Given the description of an element on the screen output the (x, y) to click on. 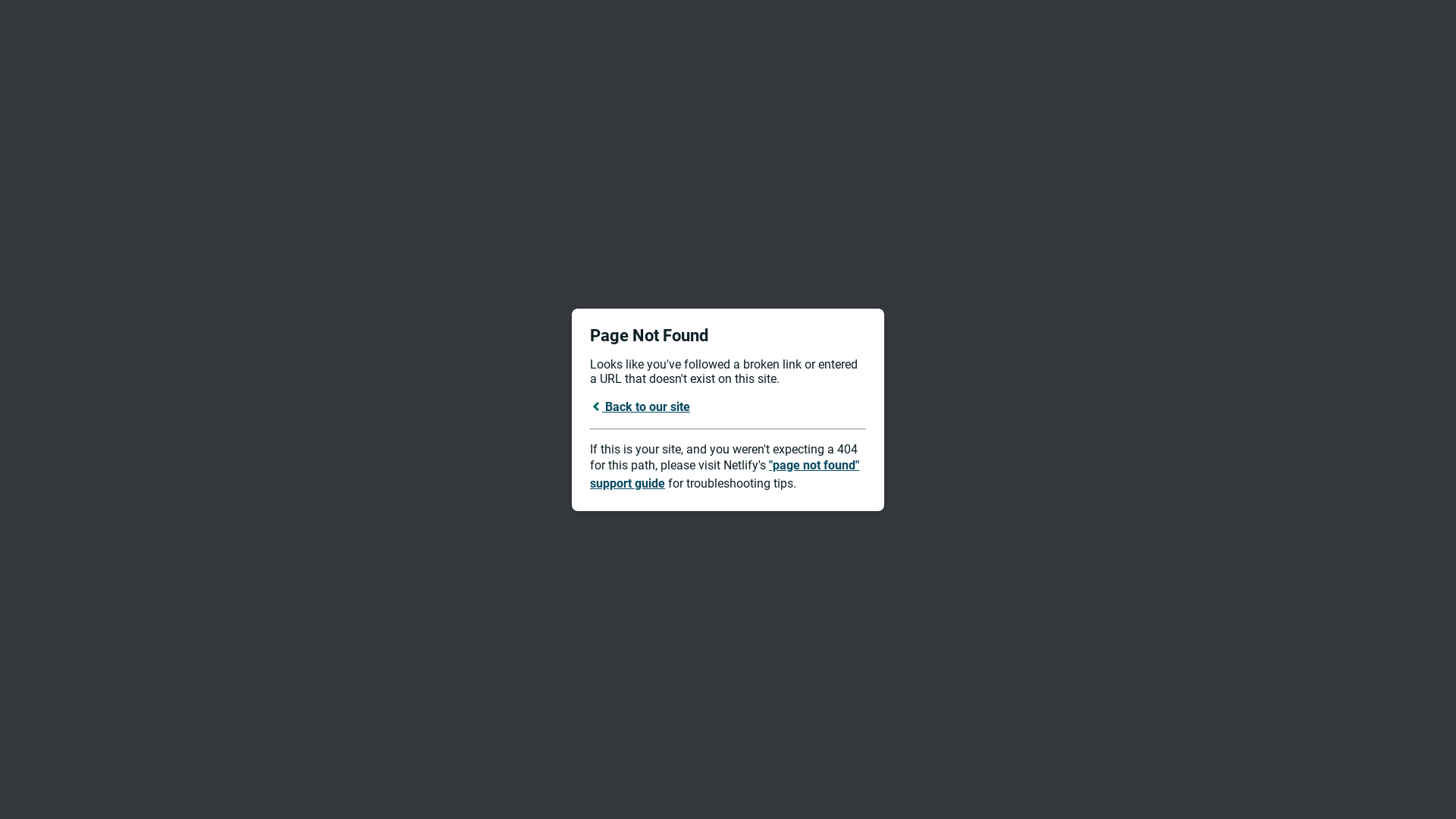
Back to our site Element type: text (639, 405)
"page not found" support guide Element type: text (724, 474)
